Given the description of an element on the screen output the (x, y) to click on. 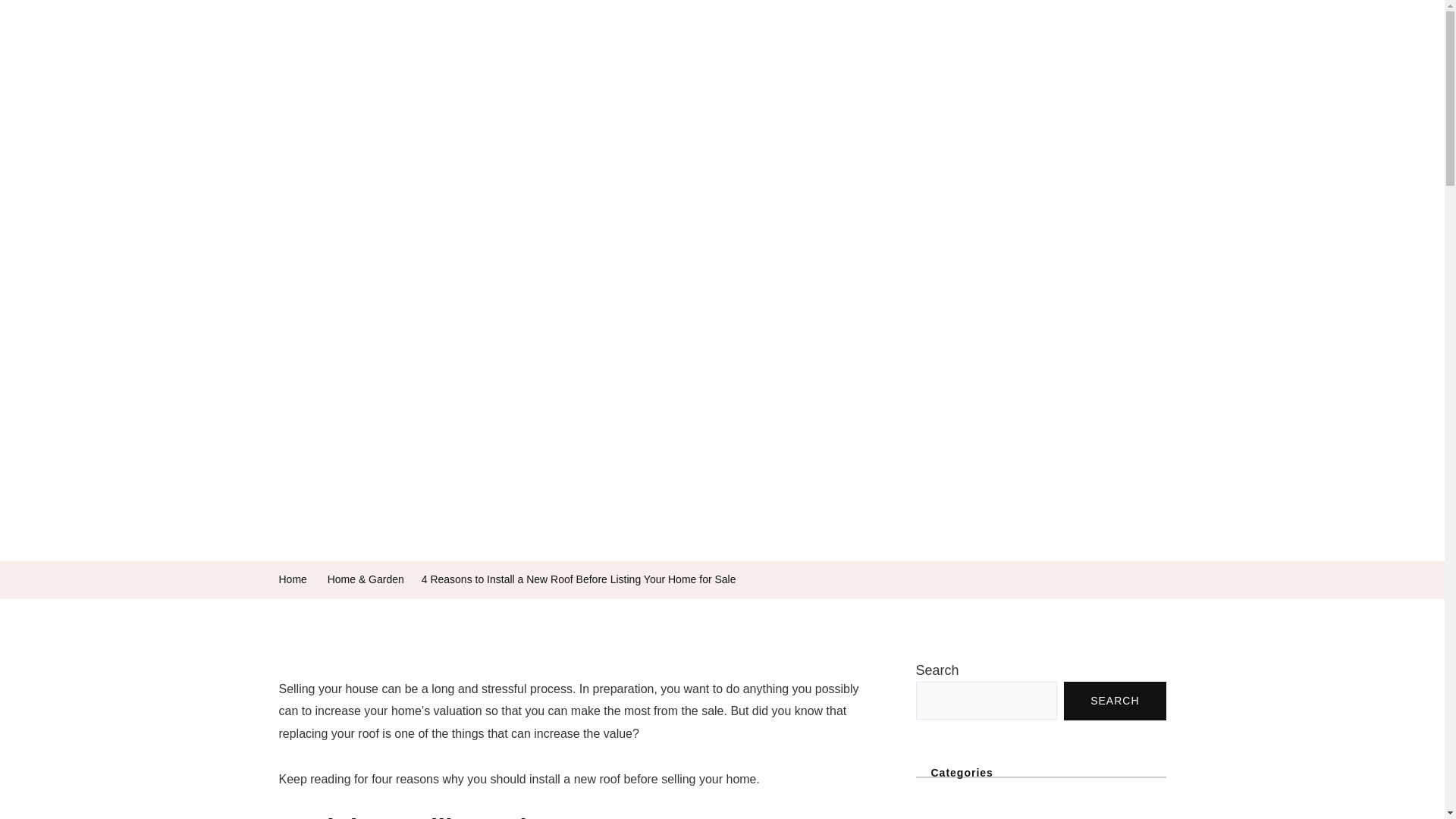
Travel (859, 49)
Search (39, 48)
Pets (683, 49)
Finance (613, 49)
Wellness (532, 49)
Contact Me (1013, 49)
Lifestyle (929, 49)
Home (293, 579)
Home (460, 49)
